Given the description of an element on the screen output the (x, y) to click on. 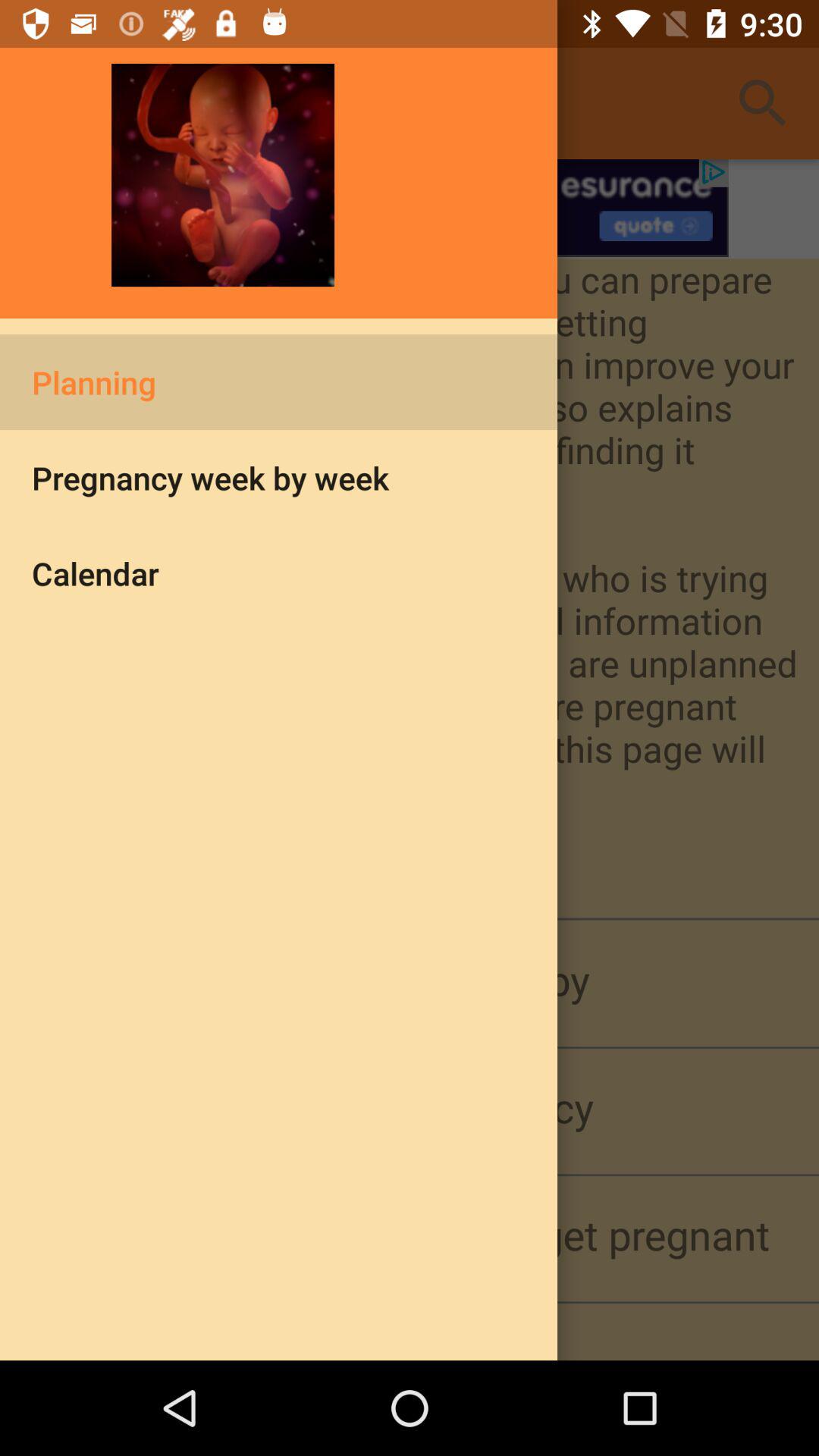
click on the search button (763, 103)
